Given the description of an element on the screen output the (x, y) to click on. 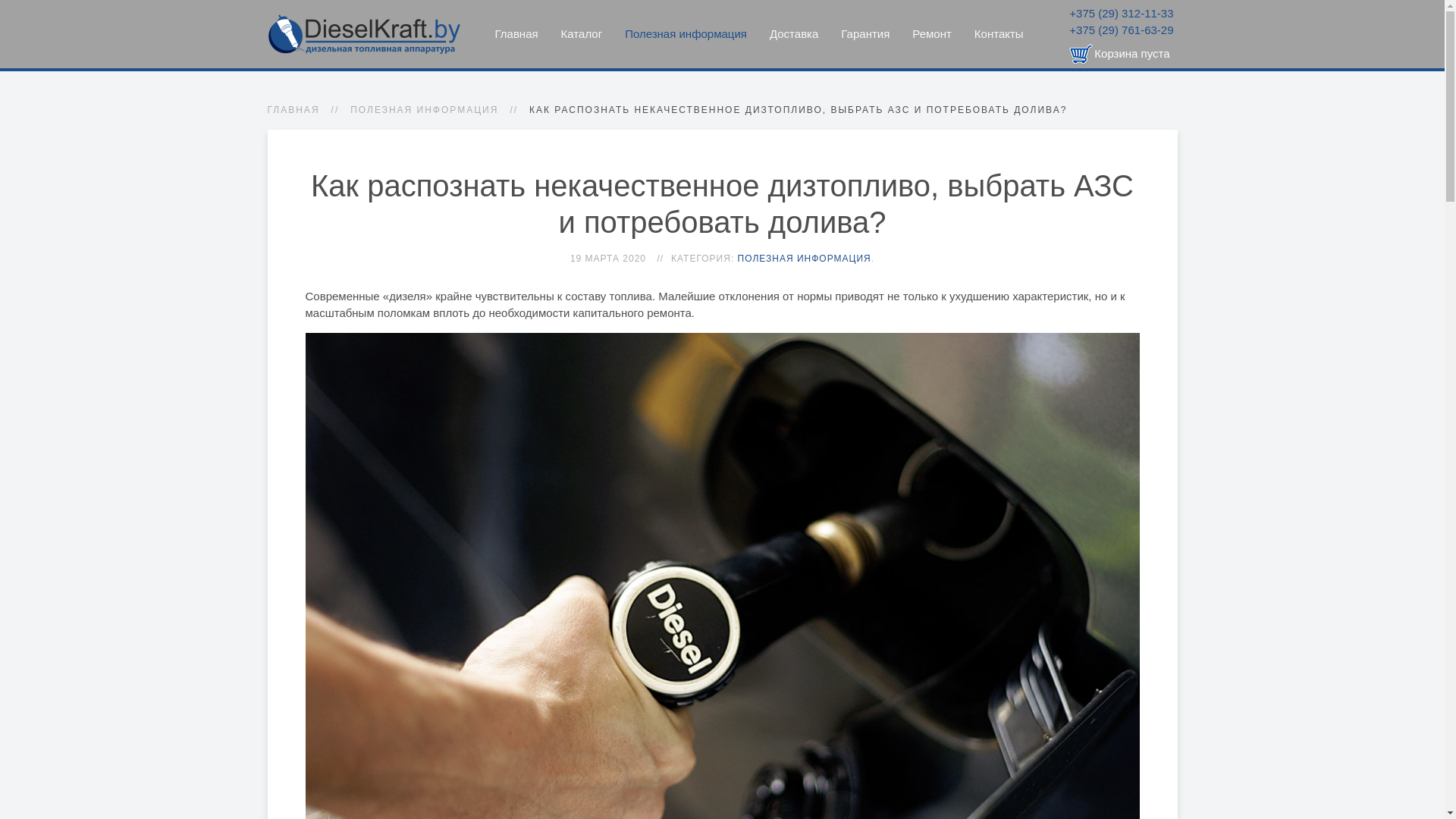
+375 (29) 312-11-33 Element type: text (1121, 12)
+375 (29) 761-63-29 Element type: text (1121, 29)
